Given the description of an element on the screen output the (x, y) to click on. 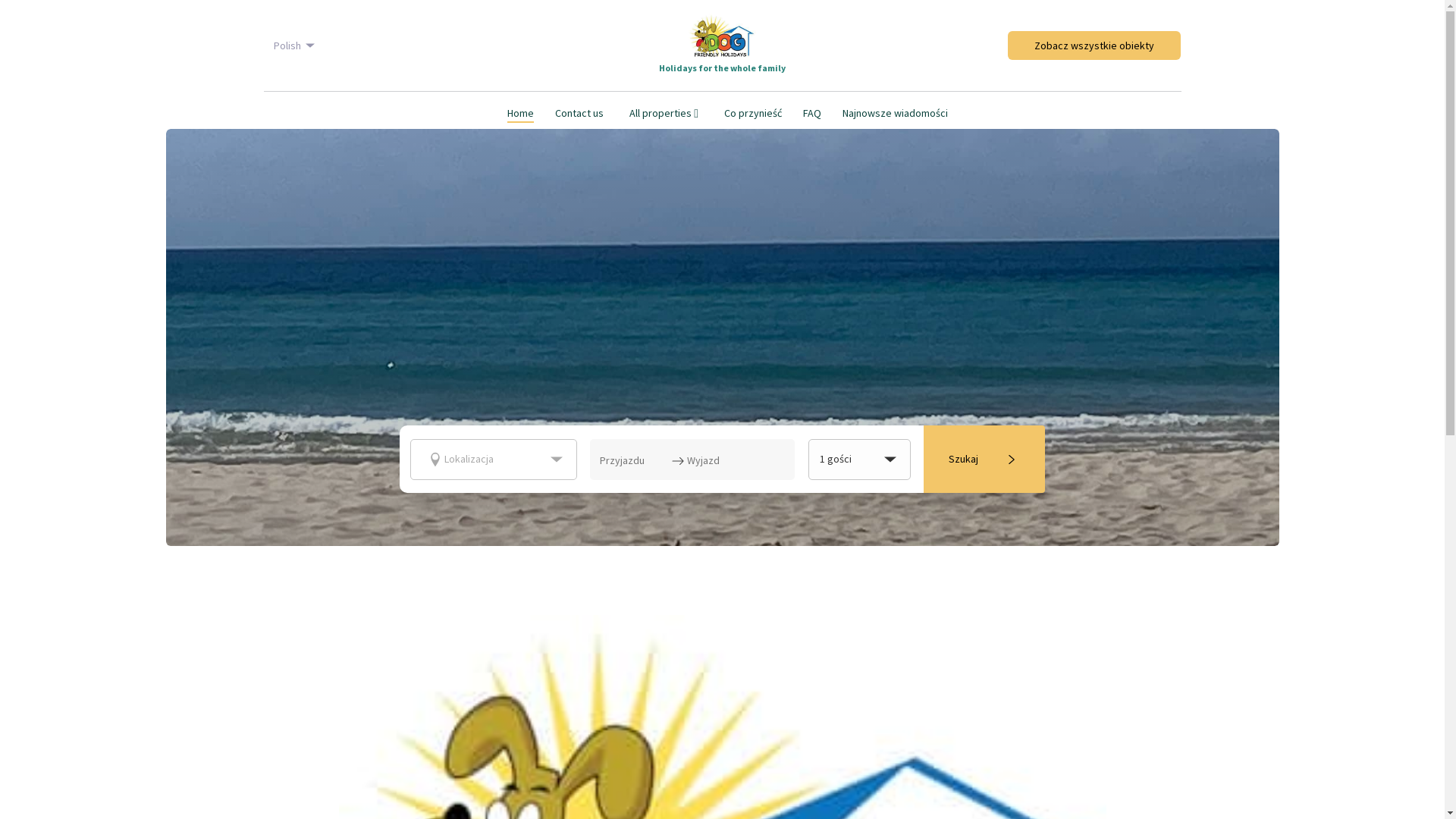
FAQ Element type: text (812, 114)
Lokalizacja Element type: text (493, 458)
Zobacz wszystkie obiekty Element type: text (1093, 45)
Polish Element type: text (294, 45)
Contact us Element type: text (579, 114)
Home Element type: text (520, 114)
Holidays for the whole family Element type: text (722, 45)
Szukaj Element type: text (983, 458)
Image Title Element type: hover (721, 36)
